Given the description of an element on the screen output the (x, y) to click on. 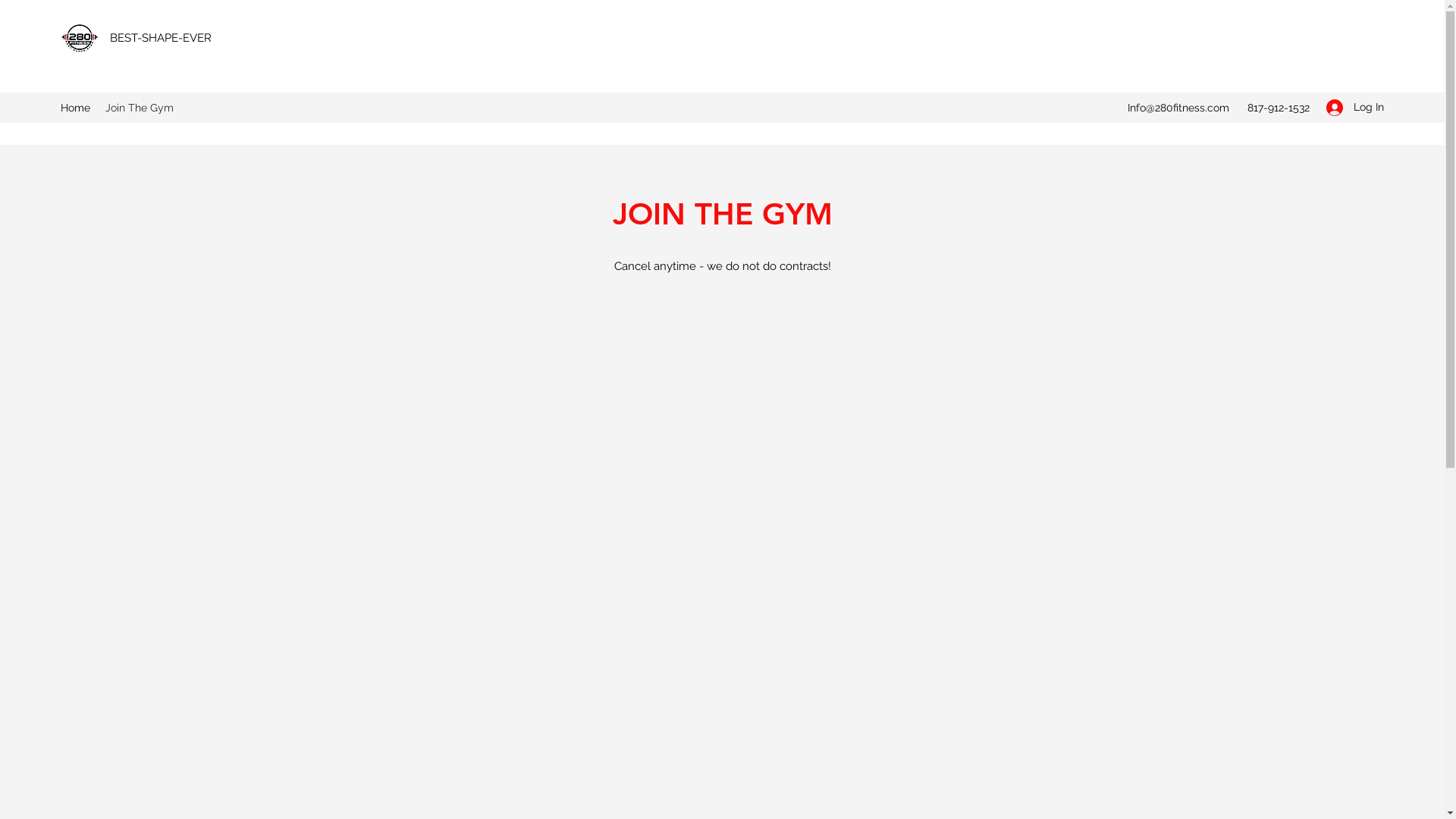
Info@280fitness.com Element type: text (1178, 107)
Log In Element type: text (1349, 107)
Join The Gym Element type: text (139, 107)
Home Element type: text (75, 107)
